Given the description of an element on the screen output the (x, y) to click on. 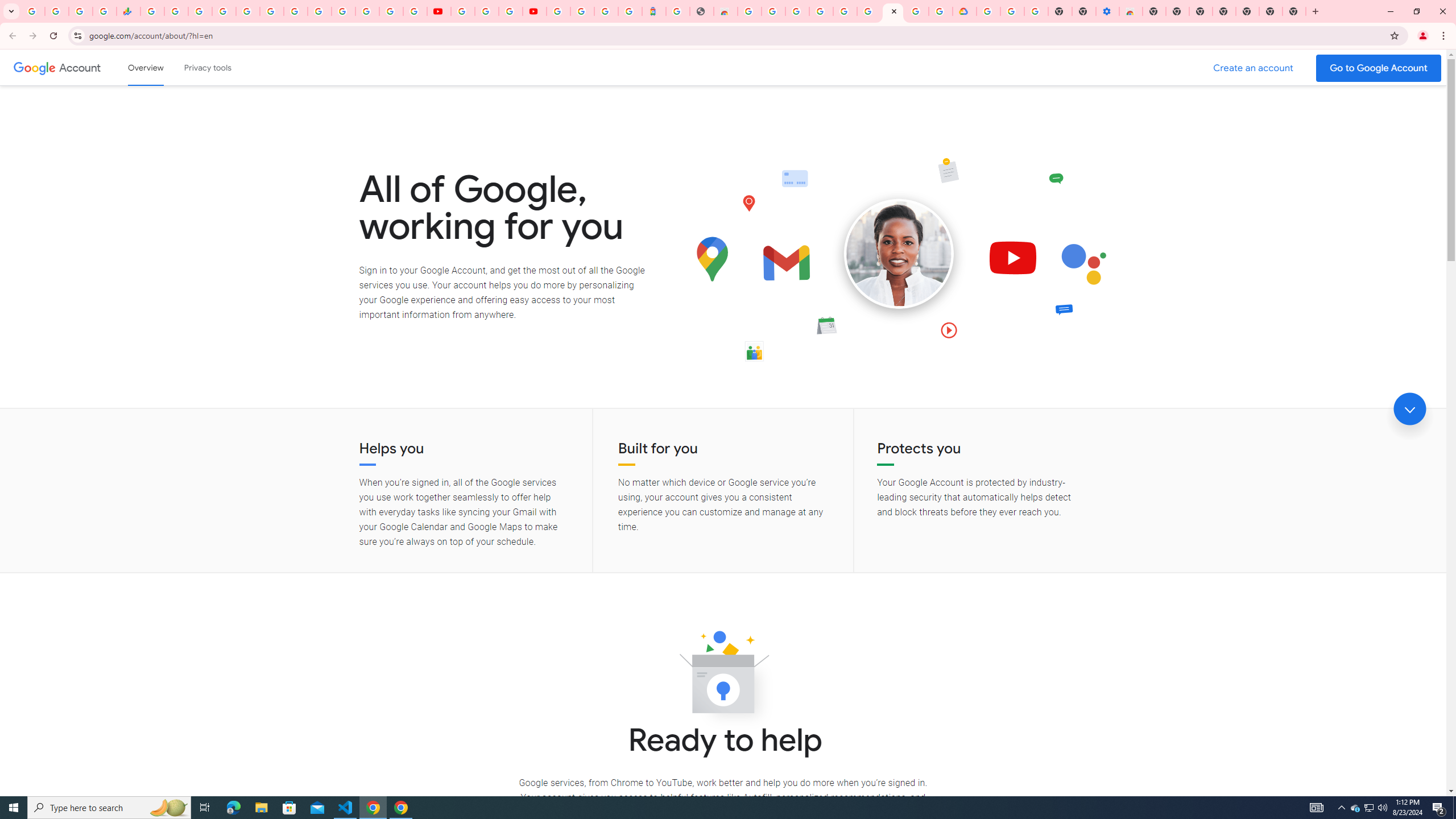
New Tab (1153, 11)
Jump link (1409, 408)
Android TV Policies and Guidelines - Transparency Center (295, 11)
Create a Google Account (1253, 67)
Sign in - Google Accounts (223, 11)
YouTube (319, 11)
